Given the description of an element on the screen output the (x, y) to click on. 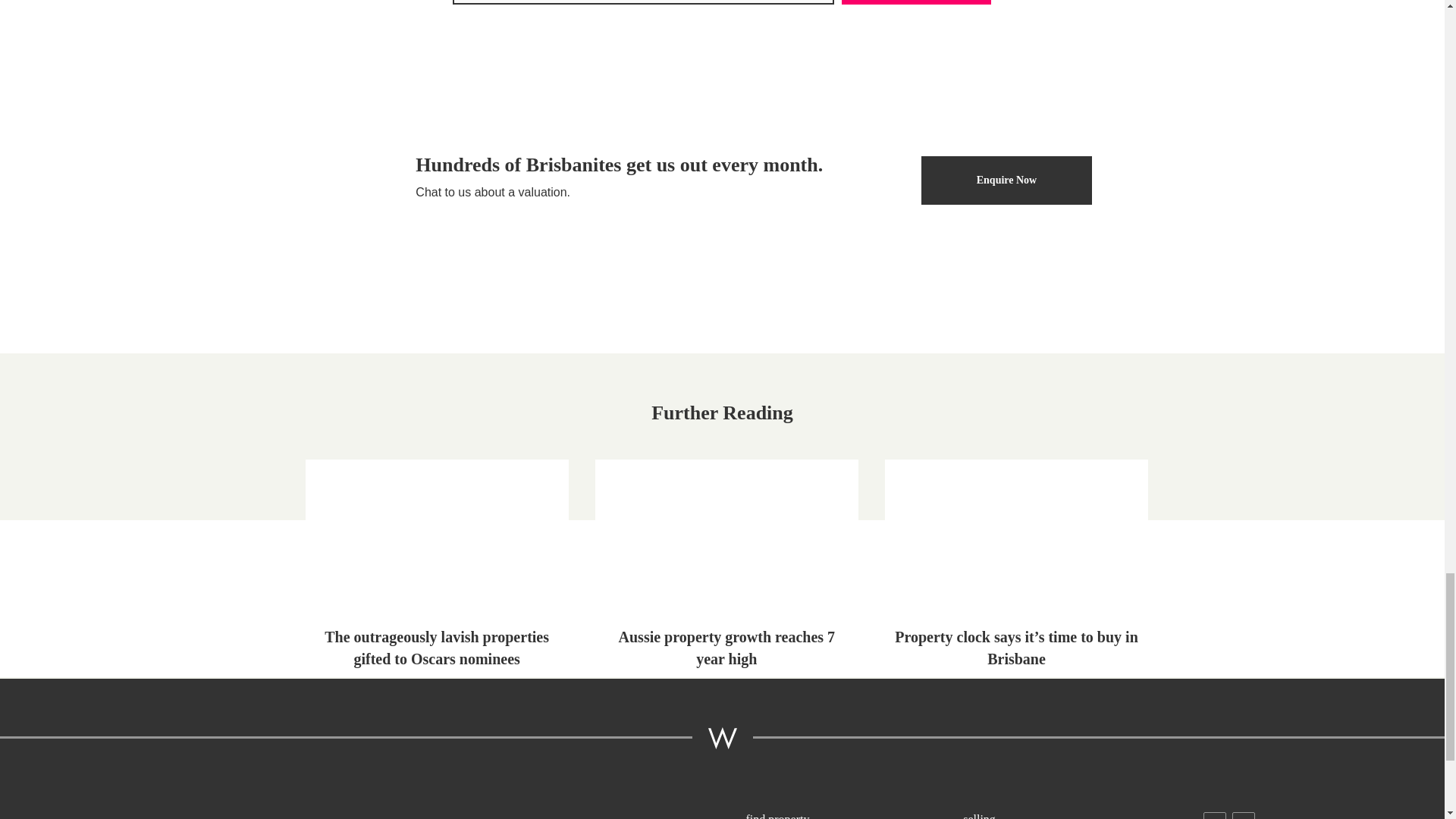
Aussie property growth reaches 7 year high (726, 567)
Subscribe me (916, 2)
Subscribe me (916, 2)
find property (852, 814)
selling (1069, 814)
The outrageously lavish properties gifted to Oscars nominees (436, 567)
